Given the description of an element on the screen output the (x, y) to click on. 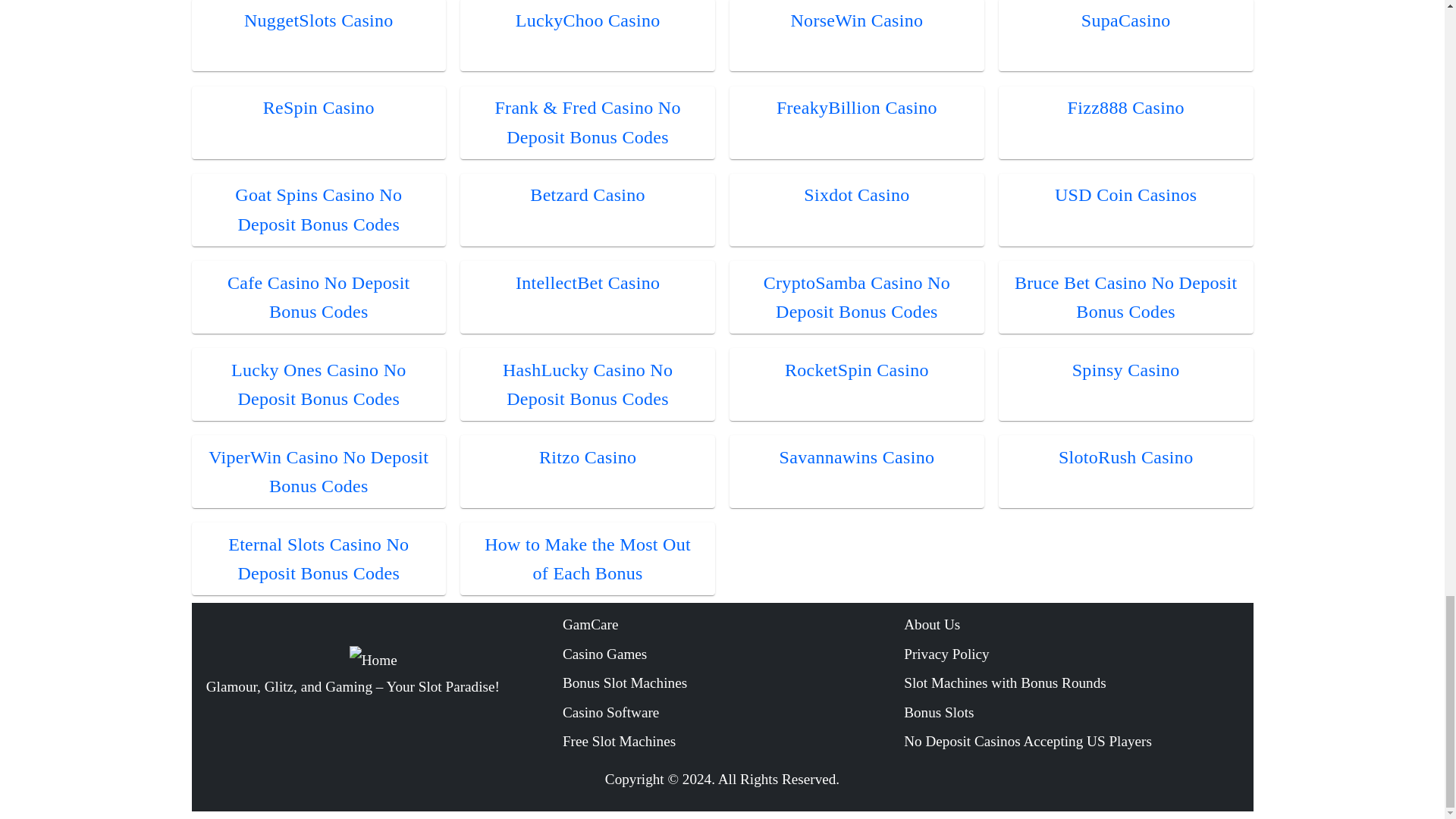
NorseWin Casino (856, 20)
Goat Spins Casino No Deposit Bonus Codes (317, 209)
IntellectBet Casino (587, 282)
ReSpin Casino (318, 107)
Sixdot Casino (855, 194)
Betzard Casino (587, 194)
FreakyBillion Casino (856, 107)
CryptoSamba Casino No Deposit Bonus Codes (856, 296)
USD Coin Casinos (1125, 194)
SupaCasino (1125, 20)
